Given the description of an element on the screen output the (x, y) to click on. 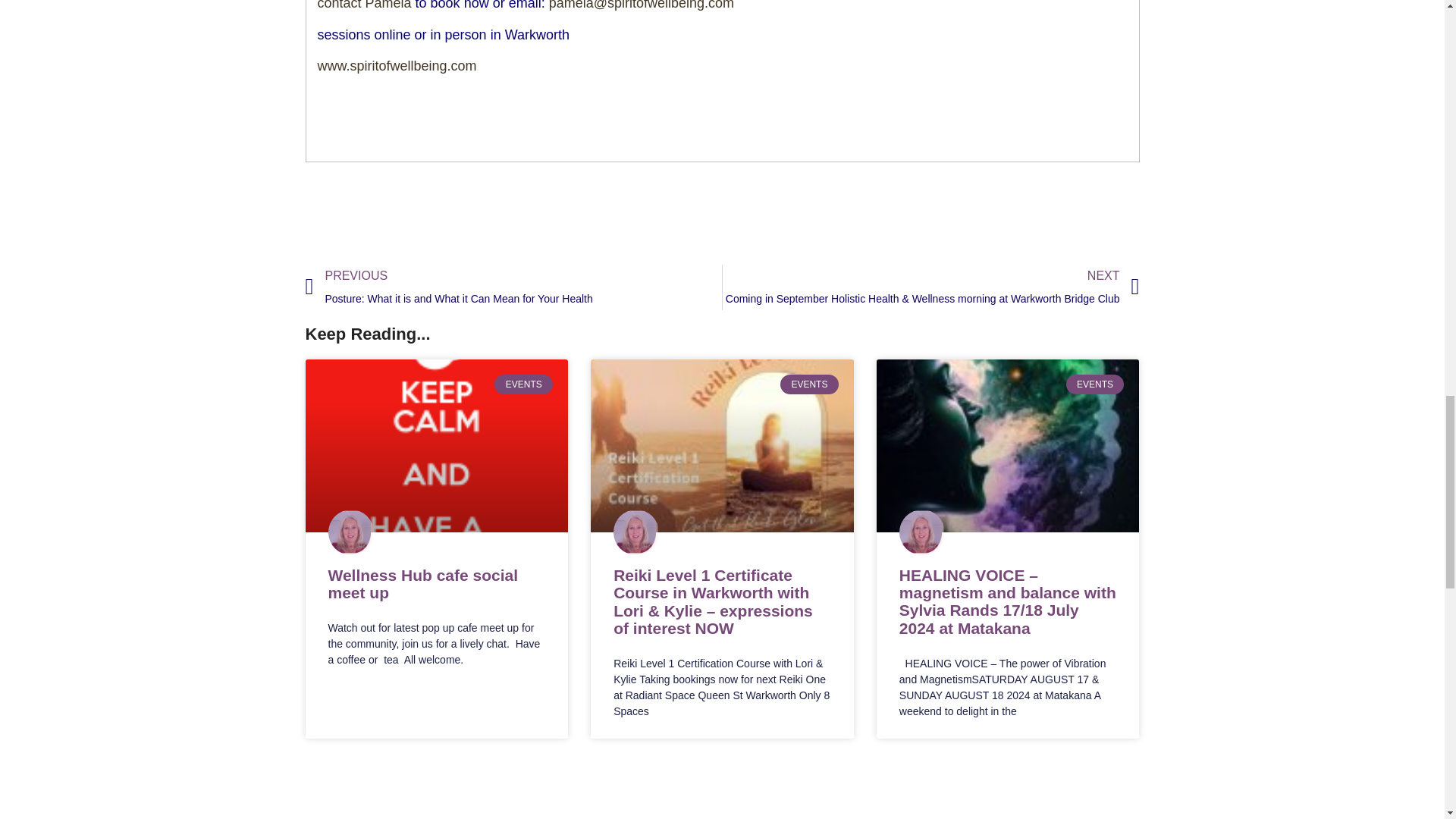
contact Pamela (363, 5)
Wellness Hub cafe social meet up (422, 583)
www.spiritofwellbeing.com (396, 65)
